Given the description of an element on the screen output the (x, y) to click on. 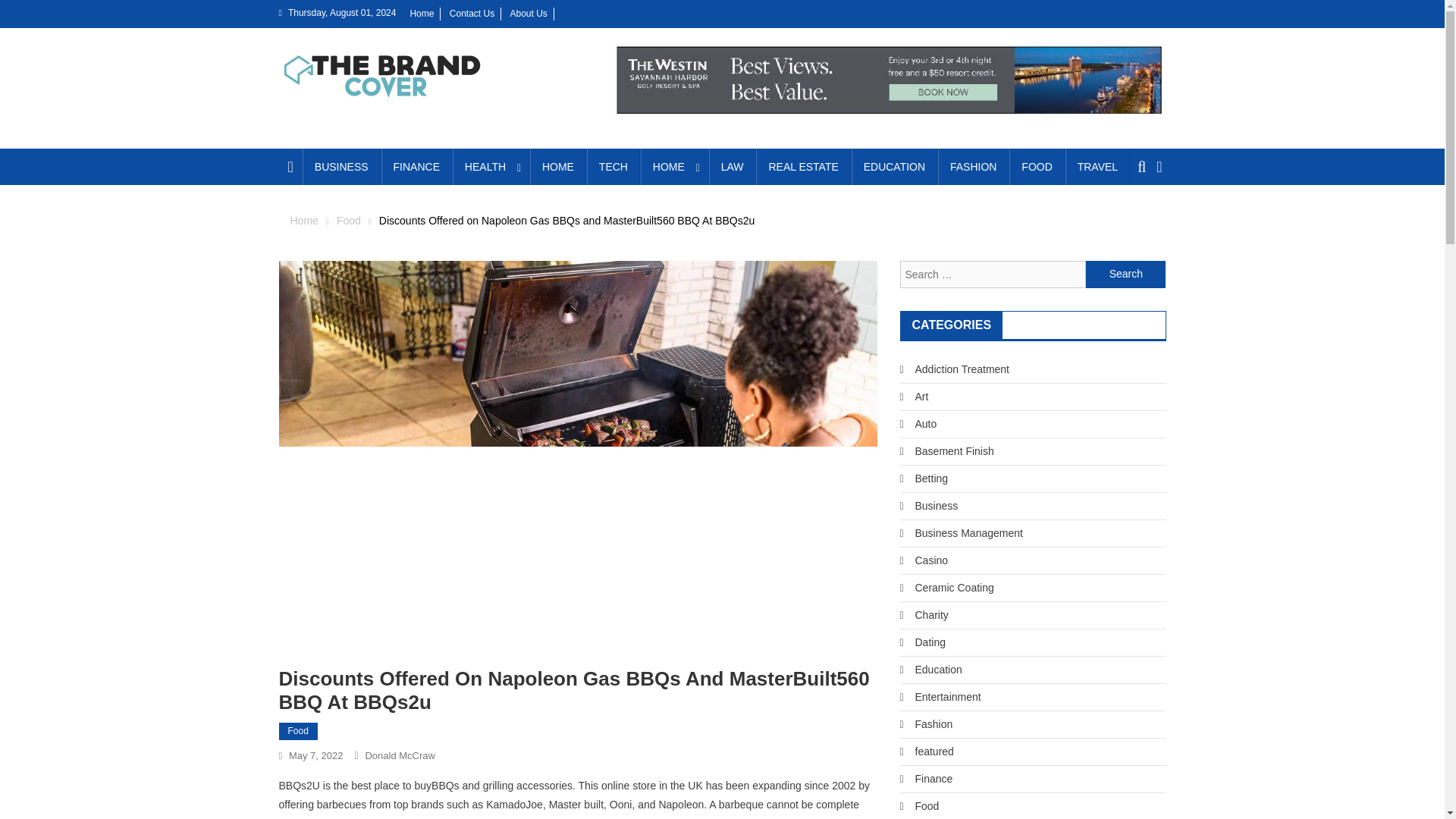
HOME (673, 166)
Search (1126, 274)
EDUCATION (894, 166)
FASHION (973, 166)
TECH (613, 166)
Search (1133, 221)
Food (298, 731)
FOOD (1036, 166)
HOME (557, 166)
About Us (528, 13)
Food (348, 220)
FINANCE (416, 166)
TRAVEL (1097, 166)
May 7, 2022 (315, 755)
LAW (732, 166)
